Given the description of an element on the screen output the (x, y) to click on. 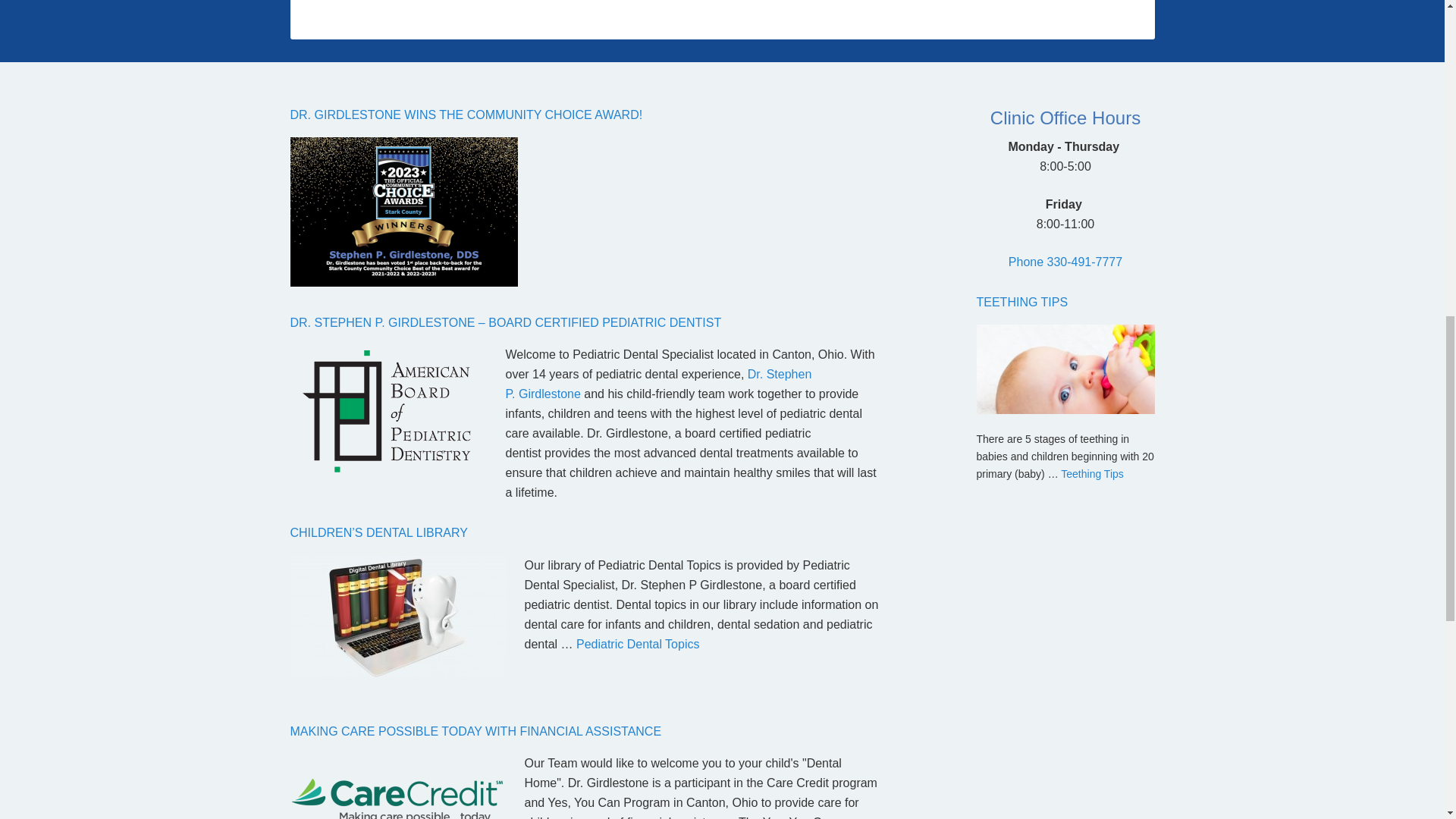
Pediatric Dental Topics (637, 644)
Dr. Stephen P. Girdlestone (657, 383)
